Given the description of an element on the screen output the (x, y) to click on. 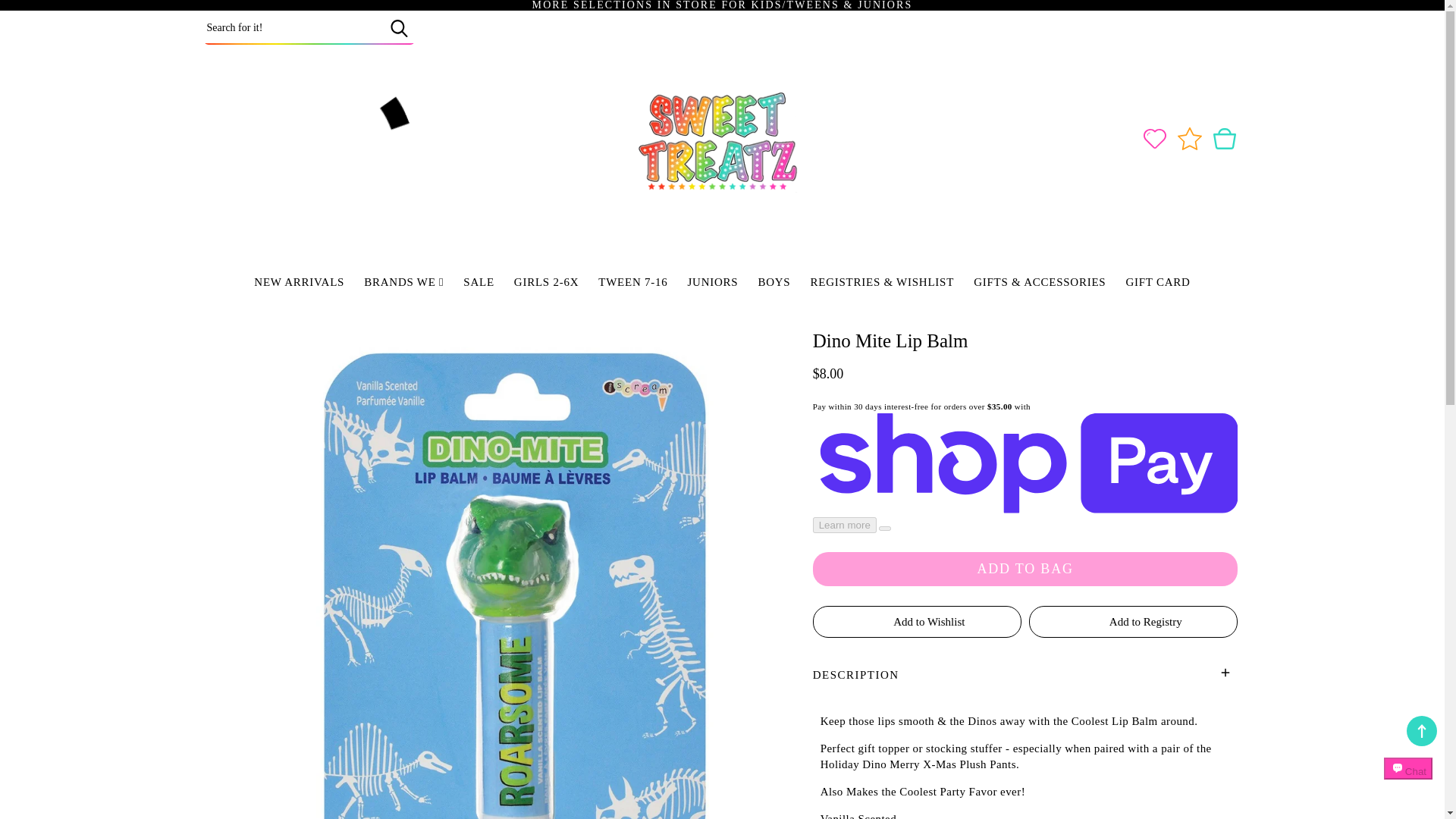
Shopify online store chat (1408, 781)
Back to the top (1421, 730)
Add to Registry (1133, 622)
SKIP TO CONTENT (45, 16)
Add to Wishlist (917, 622)
